Given the description of an element on the screen output the (x, y) to click on. 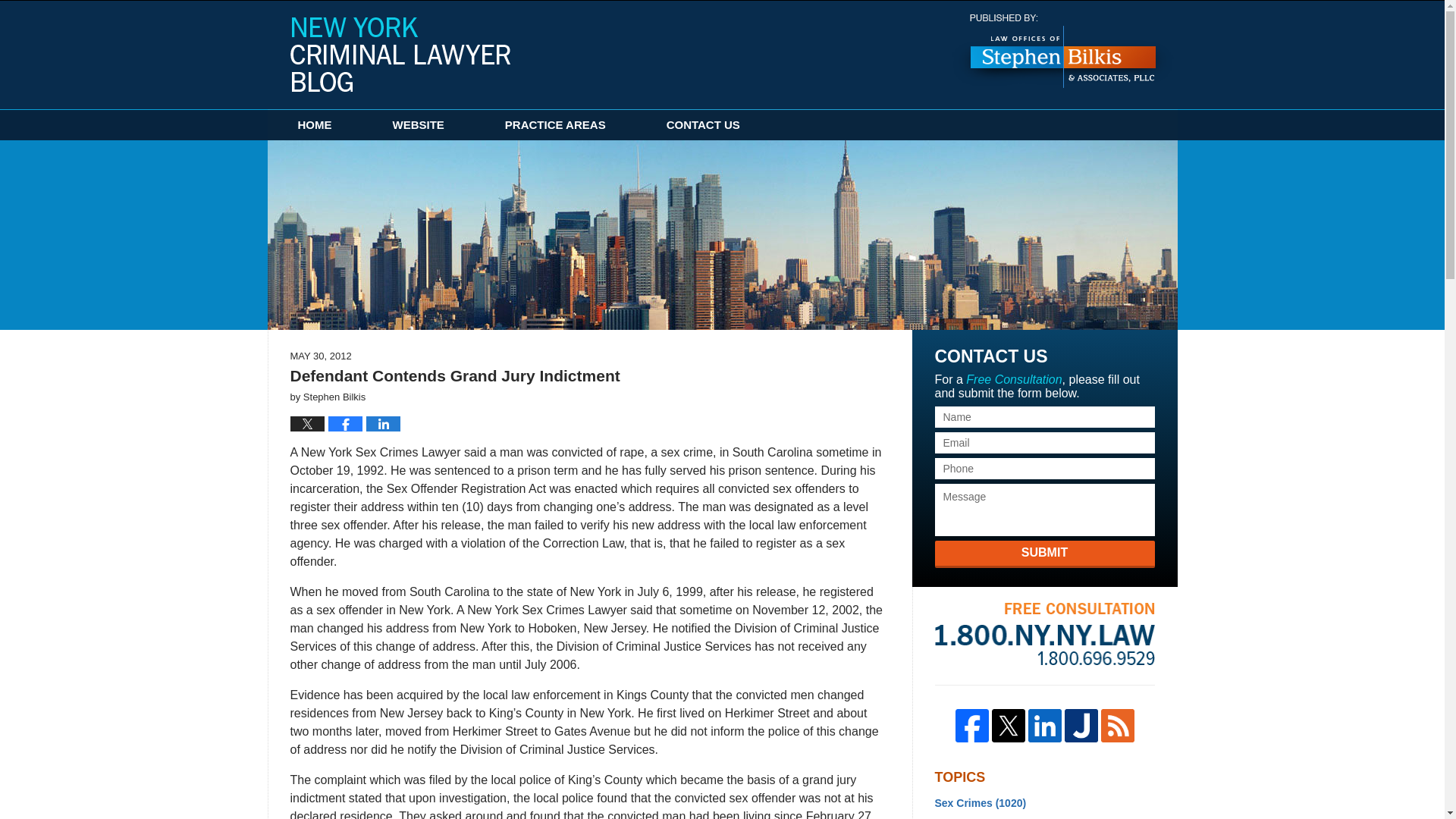
Facebook (971, 725)
Please enter a valid phone number. (1044, 468)
Twitter (1008, 725)
Justia (1080, 725)
PRACTICE AREAS (555, 124)
New York Criminal Lawyer Blog (399, 54)
Feed (1117, 725)
SUBMIT (1044, 554)
CONTACT US (703, 124)
WEBSITE (418, 124)
HOME (313, 124)
LinkedIn (1044, 725)
